Given the description of an element on the screen output the (x, y) to click on. 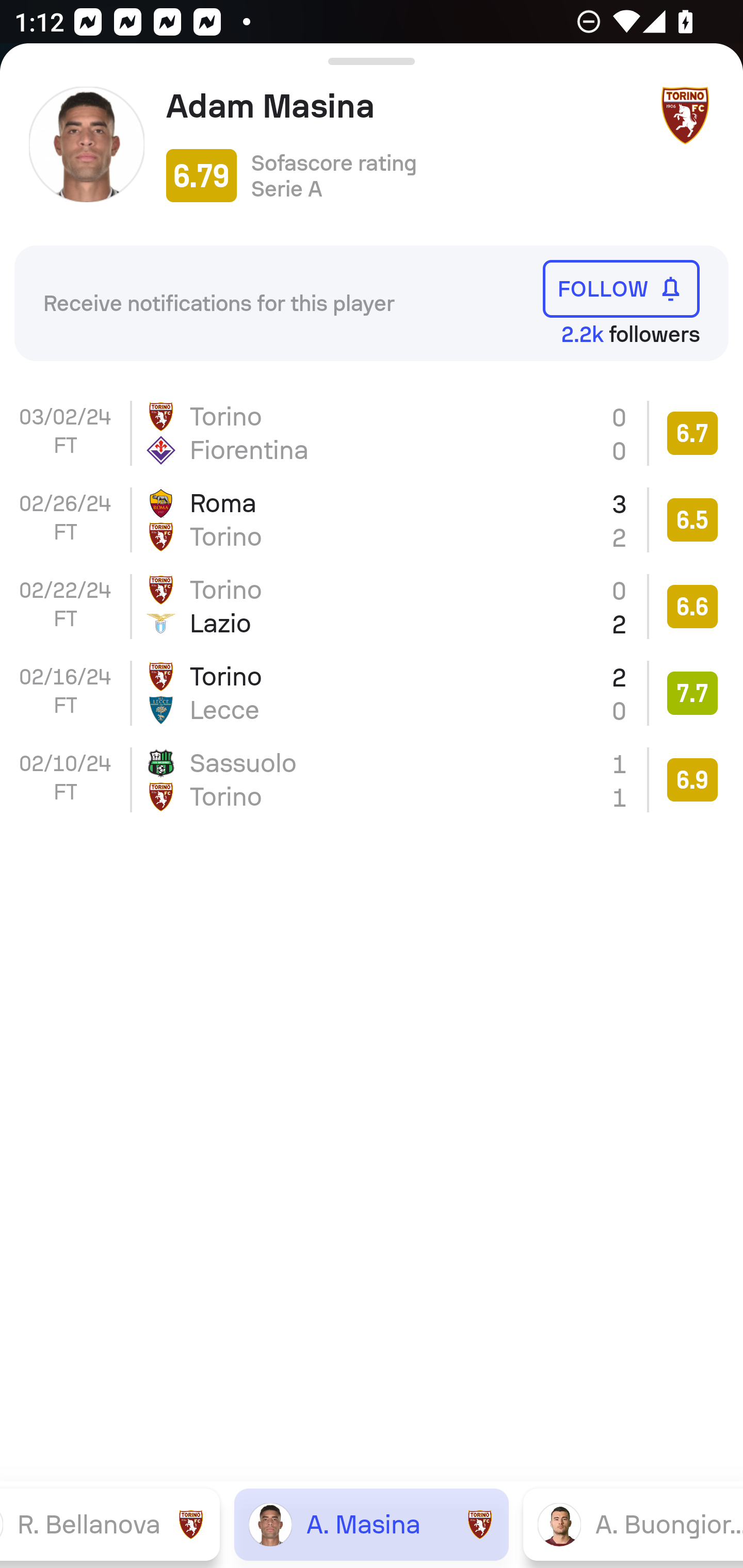
Adam Masina (403, 105)
FOLLOW (621, 289)
03/02/24 FT Torino 0 Fiorentina 0 6.7 (371, 433)
02/26/24 FT Roma 3 Torino 2 6.5 (371, 519)
02/22/24 FT Torino 0 Lazio 2 6.6 (371, 605)
02/16/24 FT Torino 2 Lecce 0 7.7 (371, 692)
02/10/24 FT Sassuolo 1 Torino 1 6.9 (371, 779)
R. Bellanova (109, 1524)
A. Masina (371, 1524)
A. Buongiorno (633, 1524)
